Given the description of an element on the screen output the (x, y) to click on. 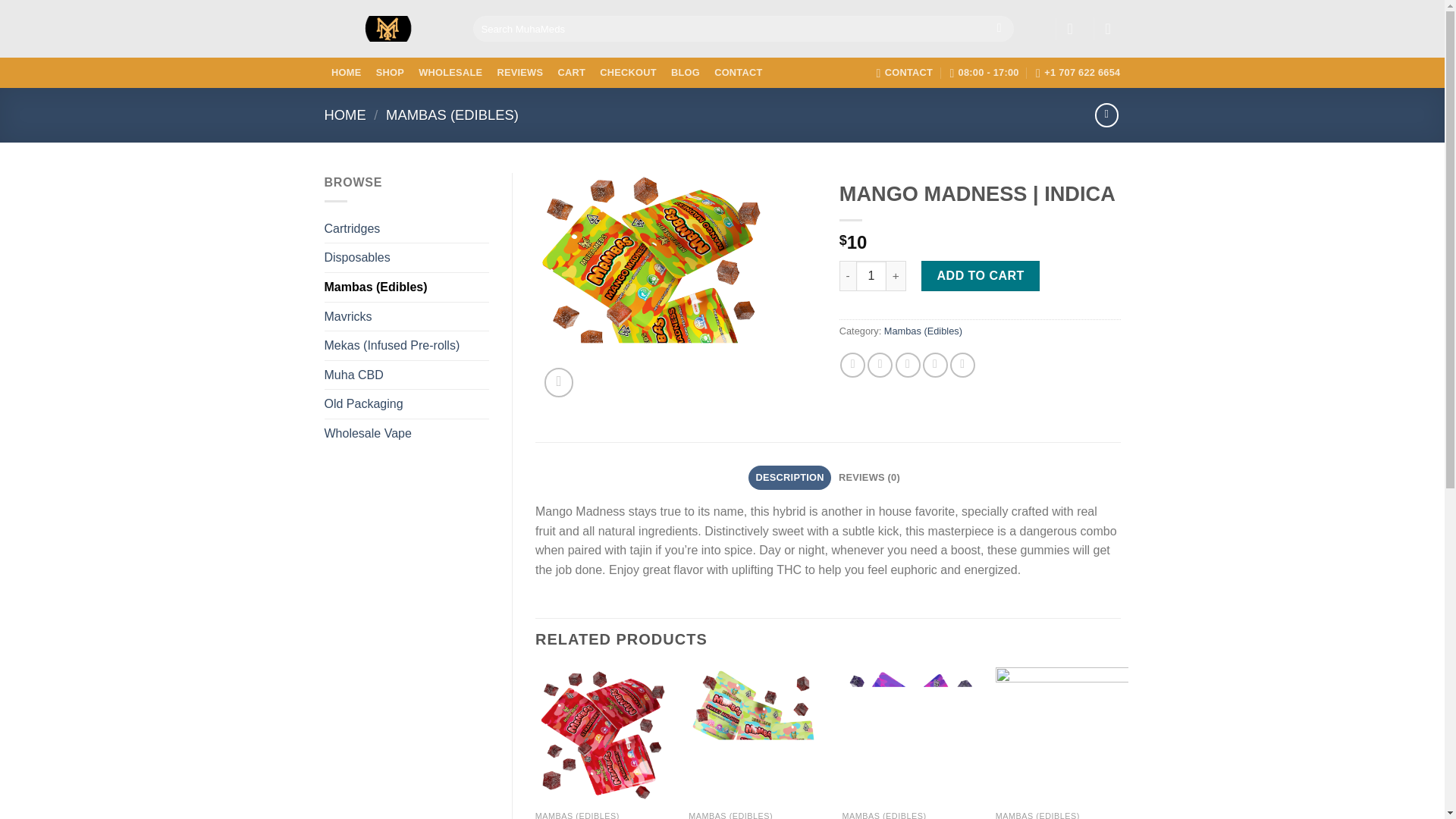
REVIEWS (519, 72)
BLOG (684, 72)
Muha CBD (406, 375)
Share on Facebook (852, 364)
HOME (345, 114)
Pin on Pinterest (935, 364)
WHOLESALE (450, 72)
Cartridges (406, 228)
Wholesale Vape (406, 433)
CART (571, 72)
